Given the description of an element on the screen output the (x, y) to click on. 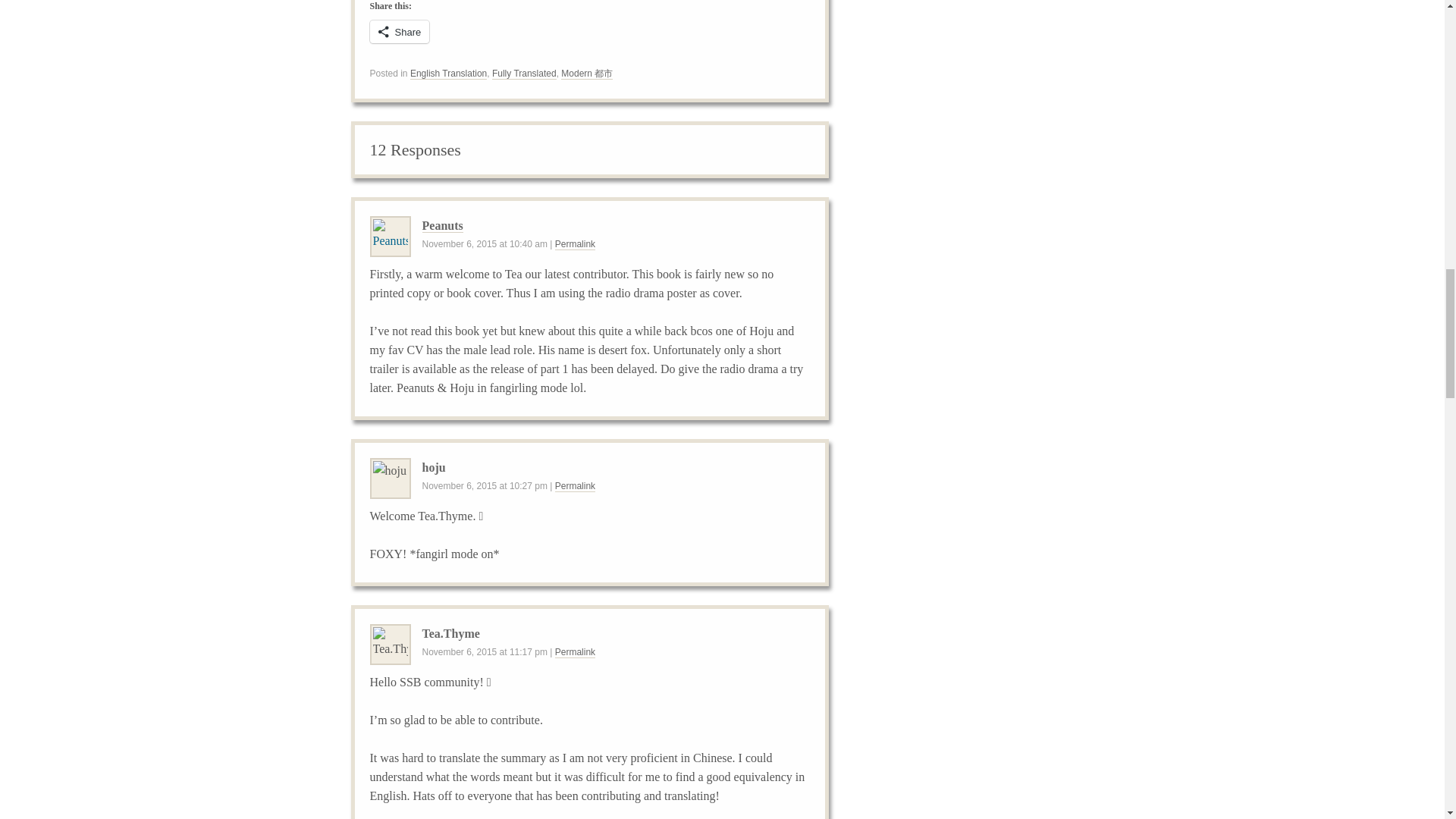
English Translation (448, 73)
Share (399, 31)
Fully Translated (524, 73)
